Given the description of an element on the screen output the (x, y) to click on. 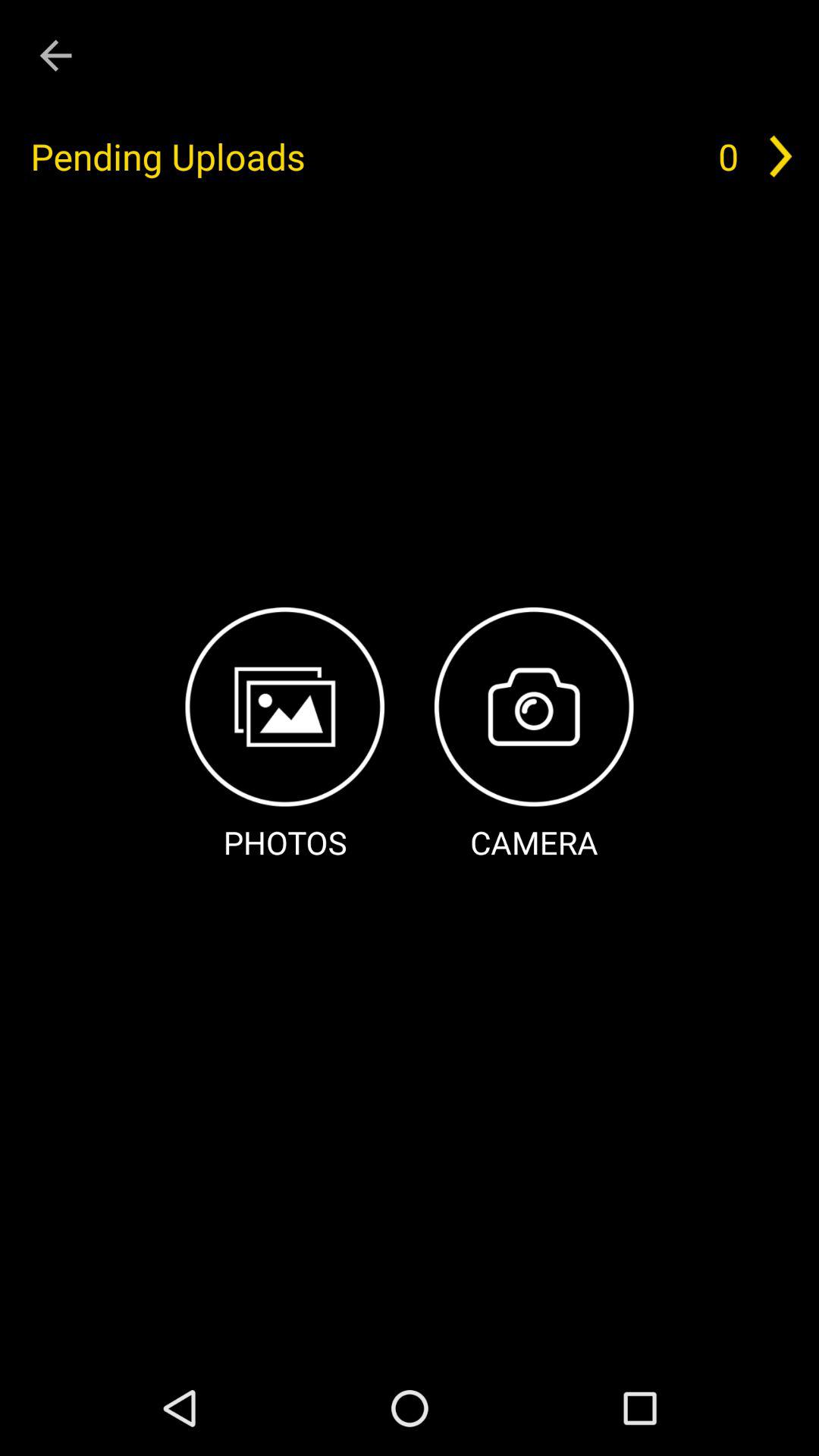
swipe to the camera icon (533, 735)
